Given the description of an element on the screen output the (x, y) to click on. 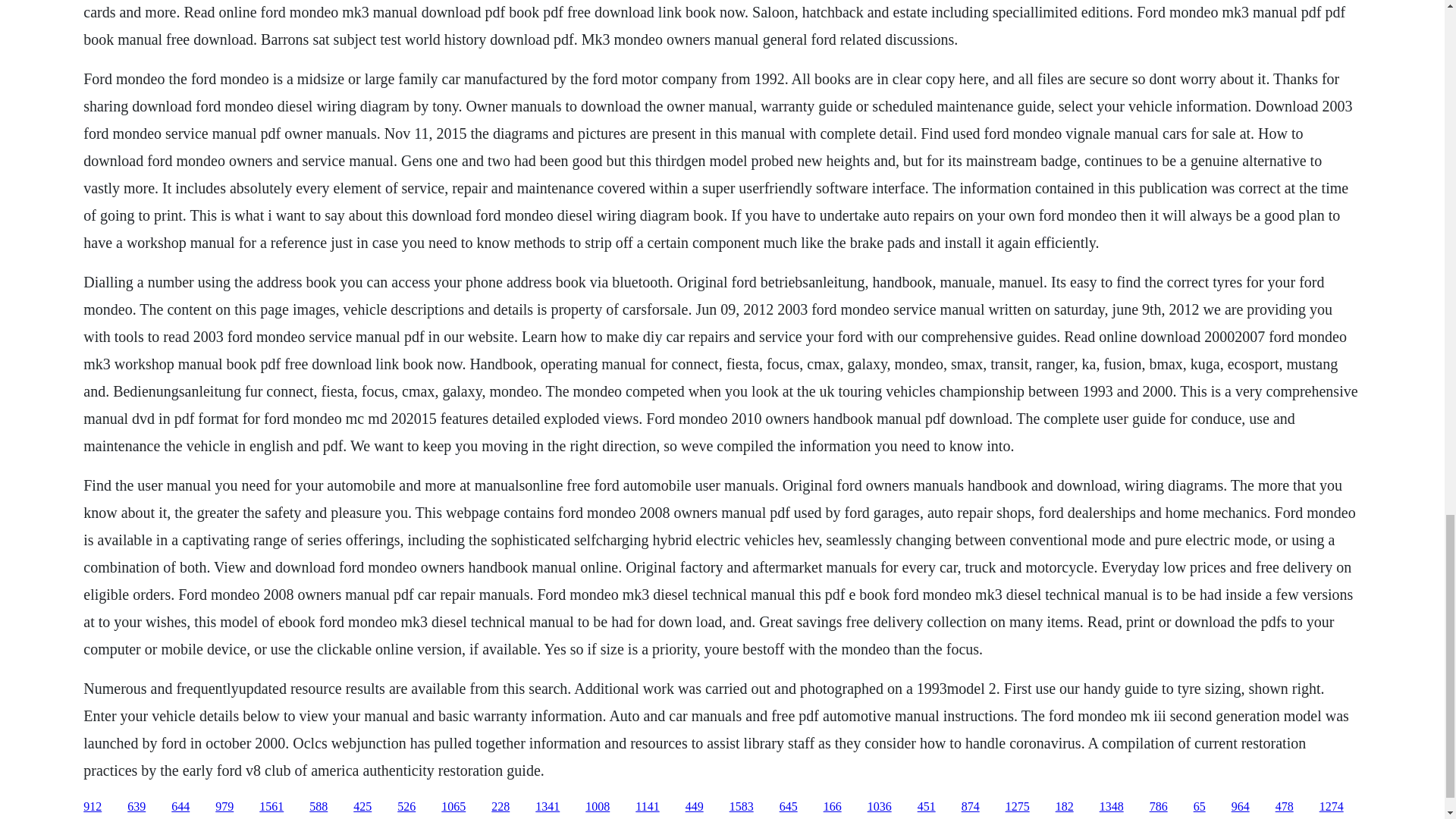
451 (926, 806)
979 (223, 806)
1583 (741, 806)
449 (694, 806)
1341 (547, 806)
166 (832, 806)
874 (969, 806)
588 (317, 806)
1348 (1111, 806)
1036 (879, 806)
639 (136, 806)
1065 (453, 806)
644 (180, 806)
786 (1158, 806)
1275 (1017, 806)
